Given the description of an element on the screen output the (x, y) to click on. 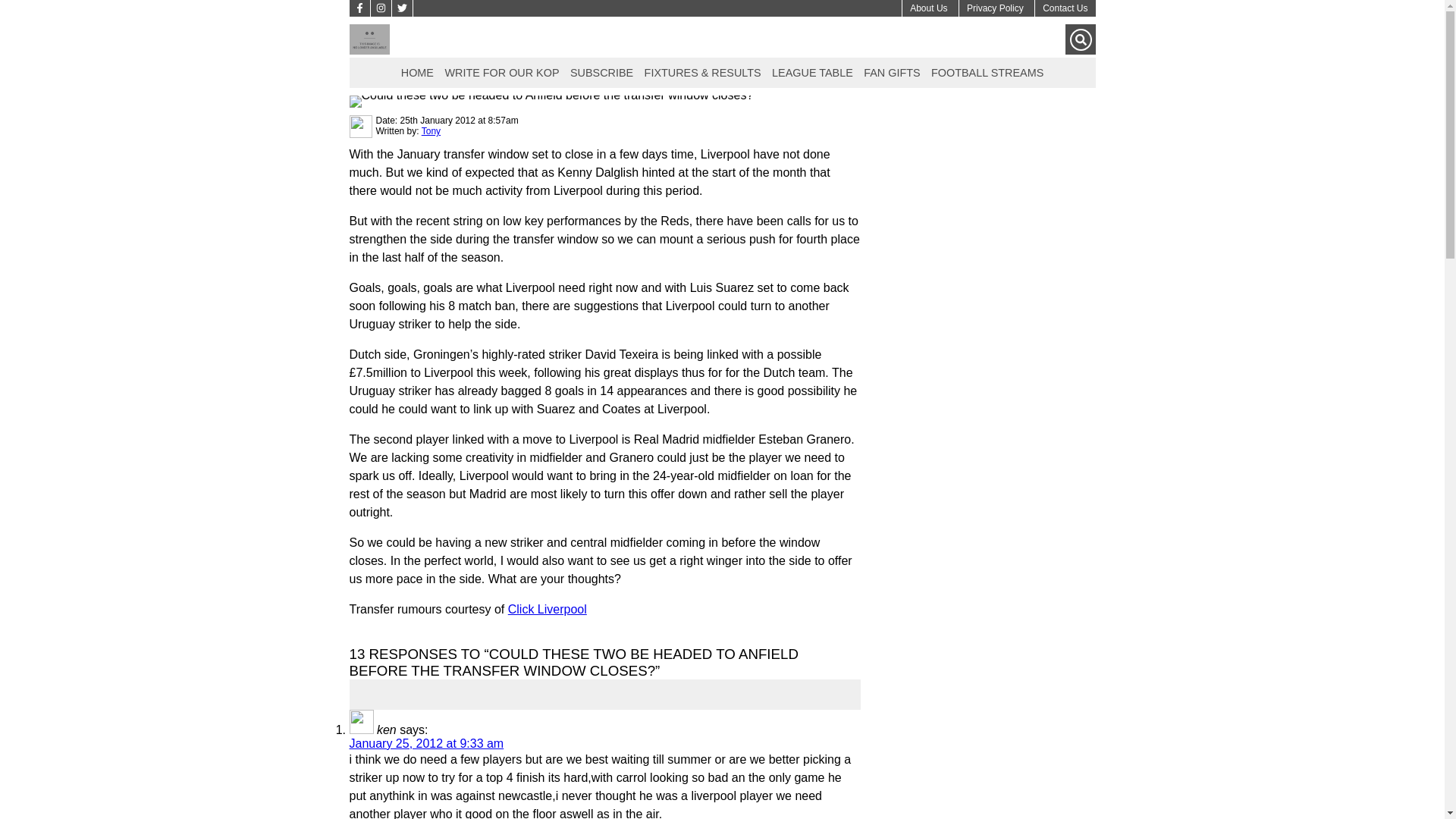
Contact Us (1064, 8)
SUBSCRIBE (601, 70)
FAN GIFTS (891, 70)
About Us (928, 8)
Click Liverpool (547, 608)
Privacy Policy (994, 8)
Posts by Tony (431, 131)
Tony (431, 131)
January 25, 2012 at 9:33 am (426, 743)
LEAGUE TABLE (812, 70)
